Given the description of an element on the screen output the (x, y) to click on. 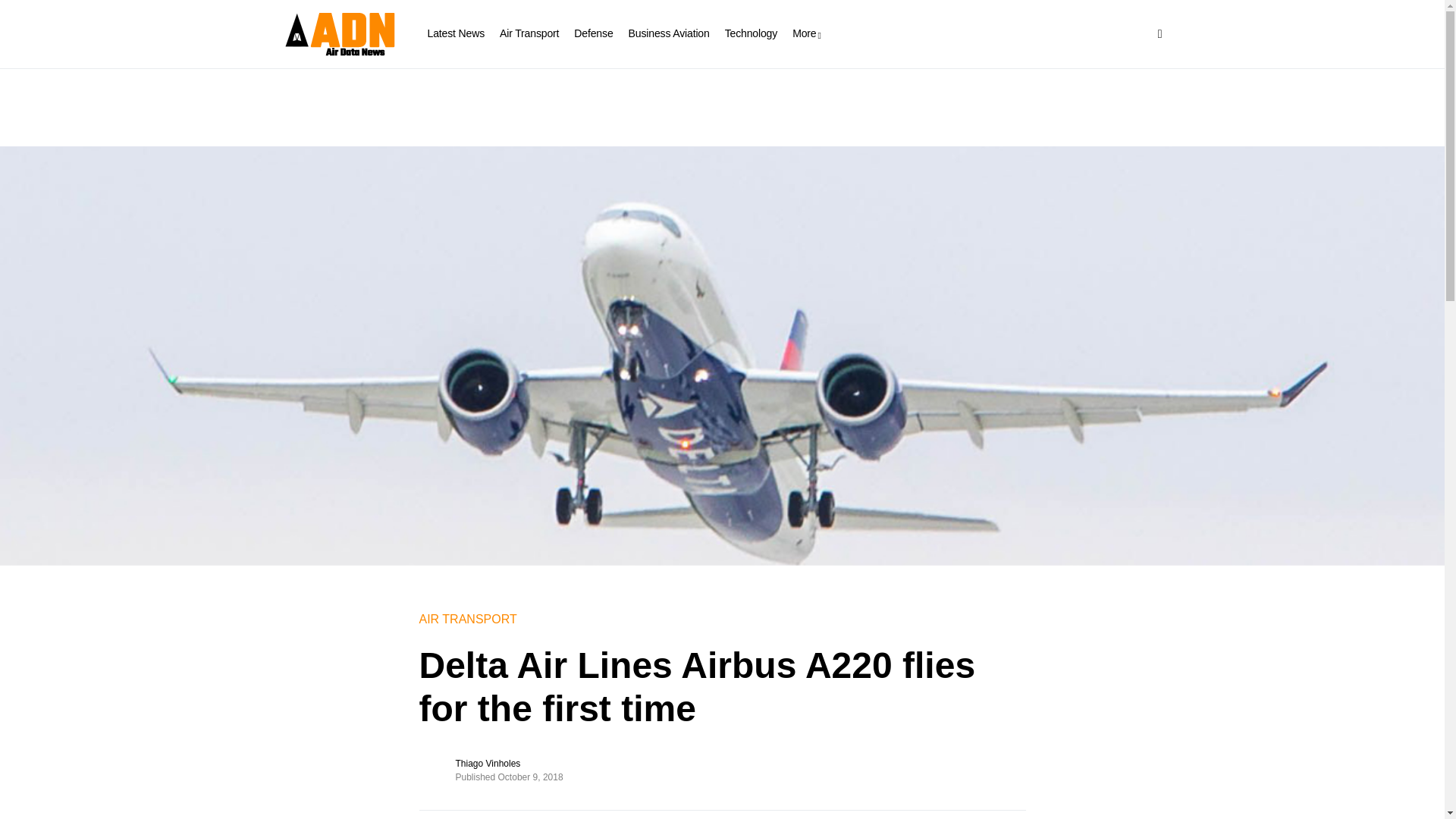
Thiago Vinholes (486, 763)
Business Aviation (669, 33)
AIR TRANSPORT (467, 618)
